Given the description of an element on the screen output the (x, y) to click on. 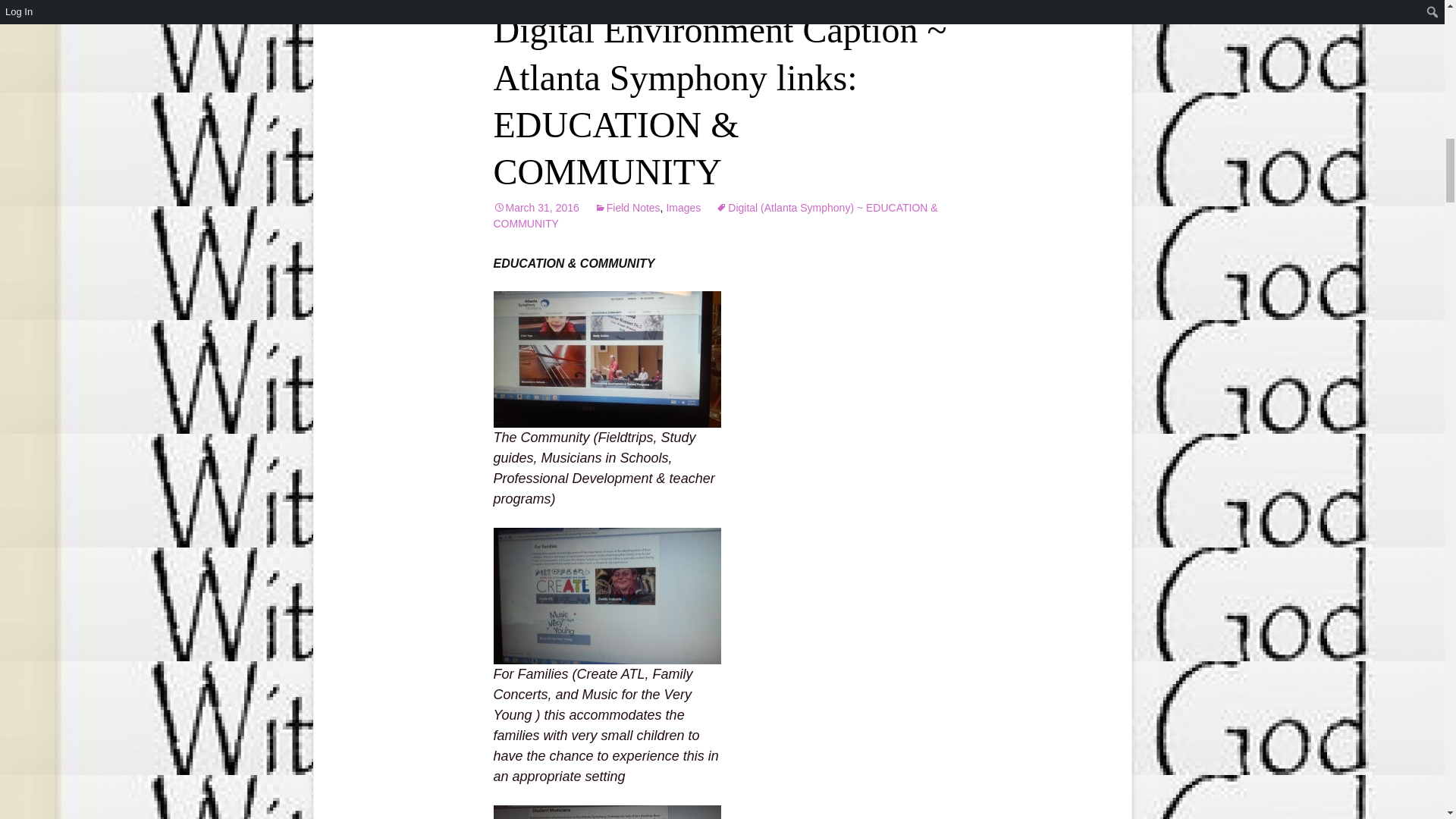
Field Notes (627, 207)
Images (682, 207)
March 31, 2016 (535, 207)
